Given the description of an element on the screen output the (x, y) to click on. 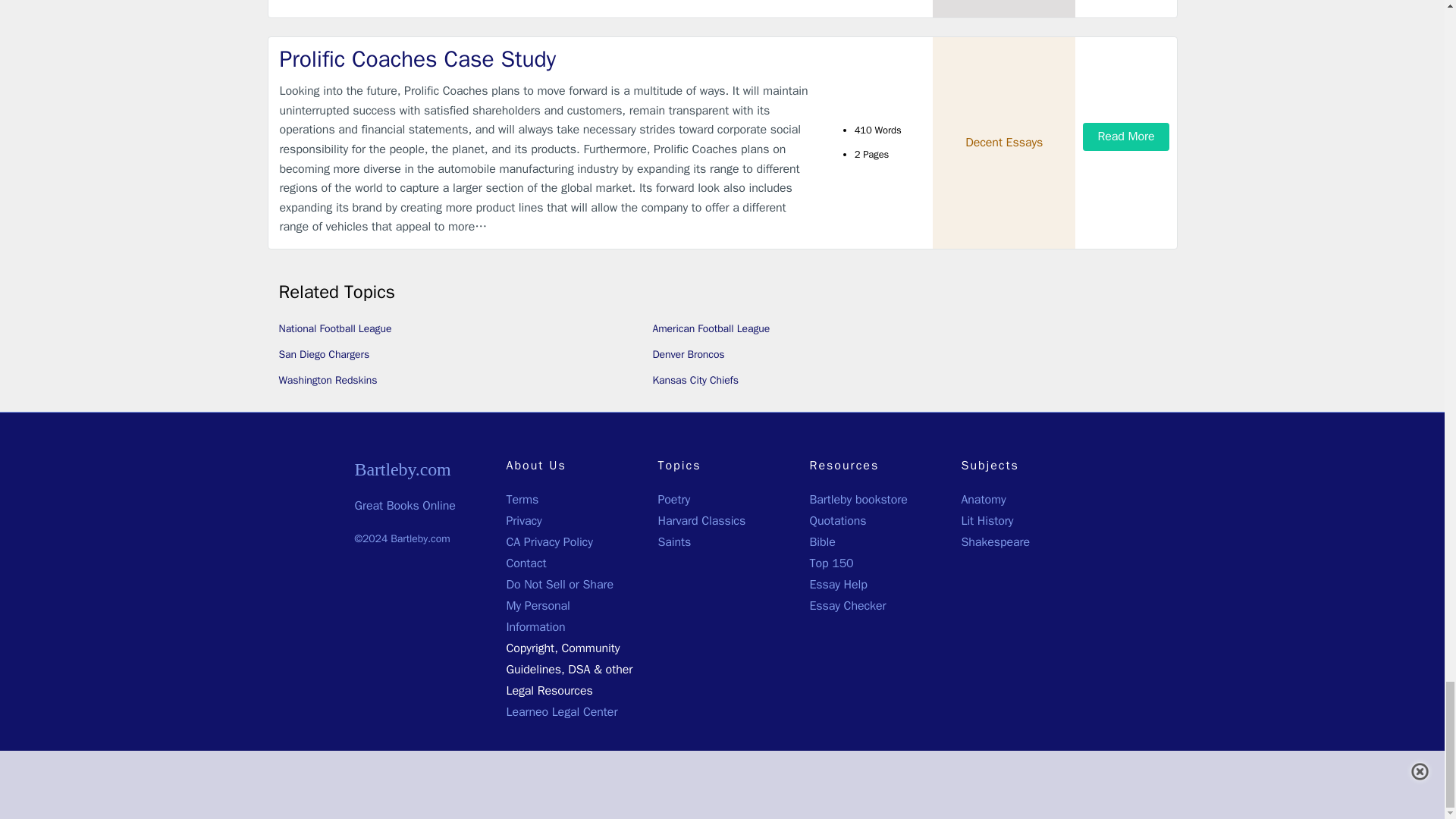
Denver Broncos (687, 354)
National Football League (335, 328)
San Diego Chargers (324, 354)
Kansas City Chiefs (695, 379)
American Football League (711, 328)
Washington Redskins (328, 379)
